Given the description of an element on the screen output the (x, y) to click on. 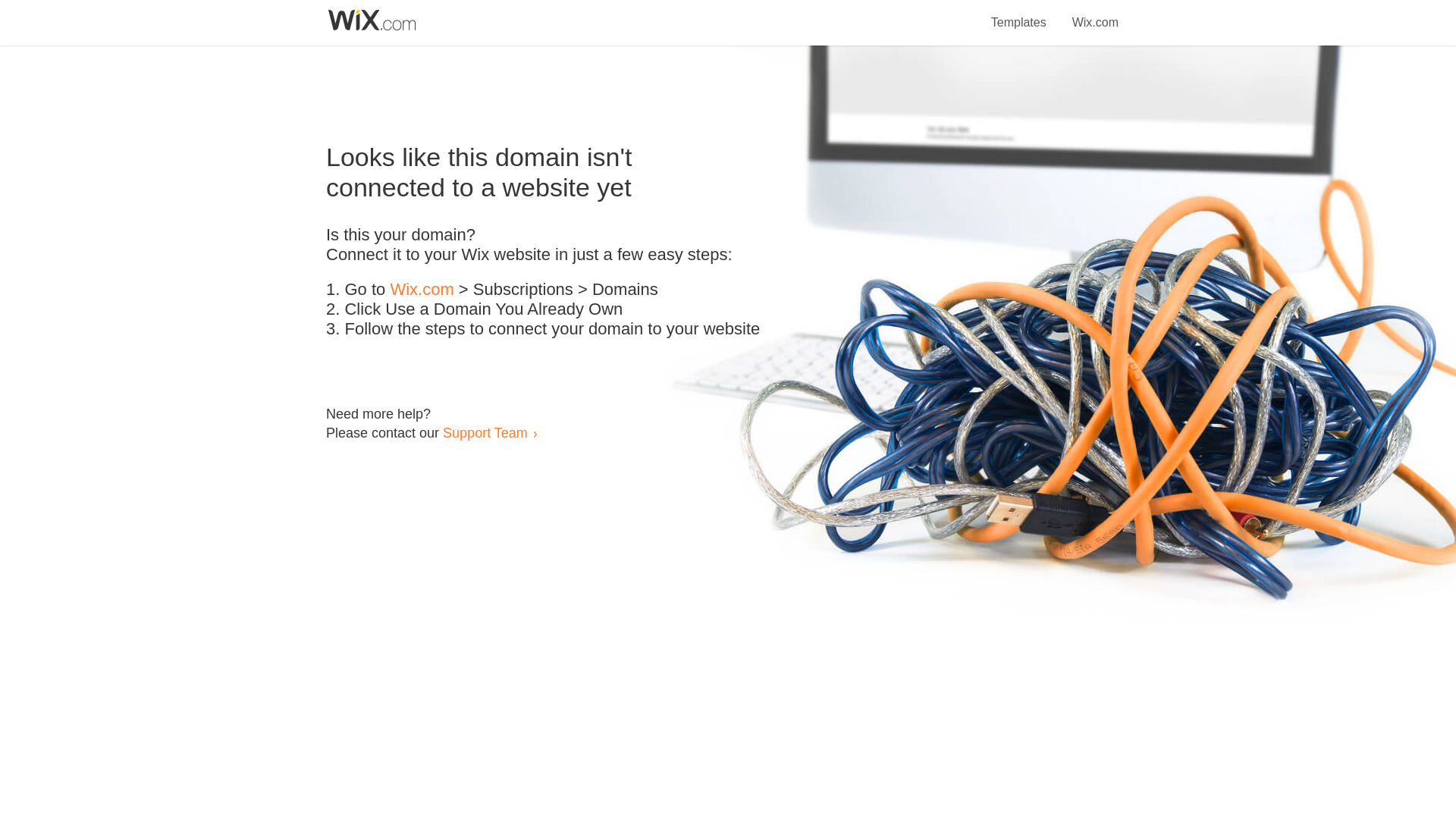
Wix.com (421, 289)
Support Team (484, 432)
Templates (1018, 14)
Wix.com (1095, 14)
